Given the description of an element on the screen output the (x, y) to click on. 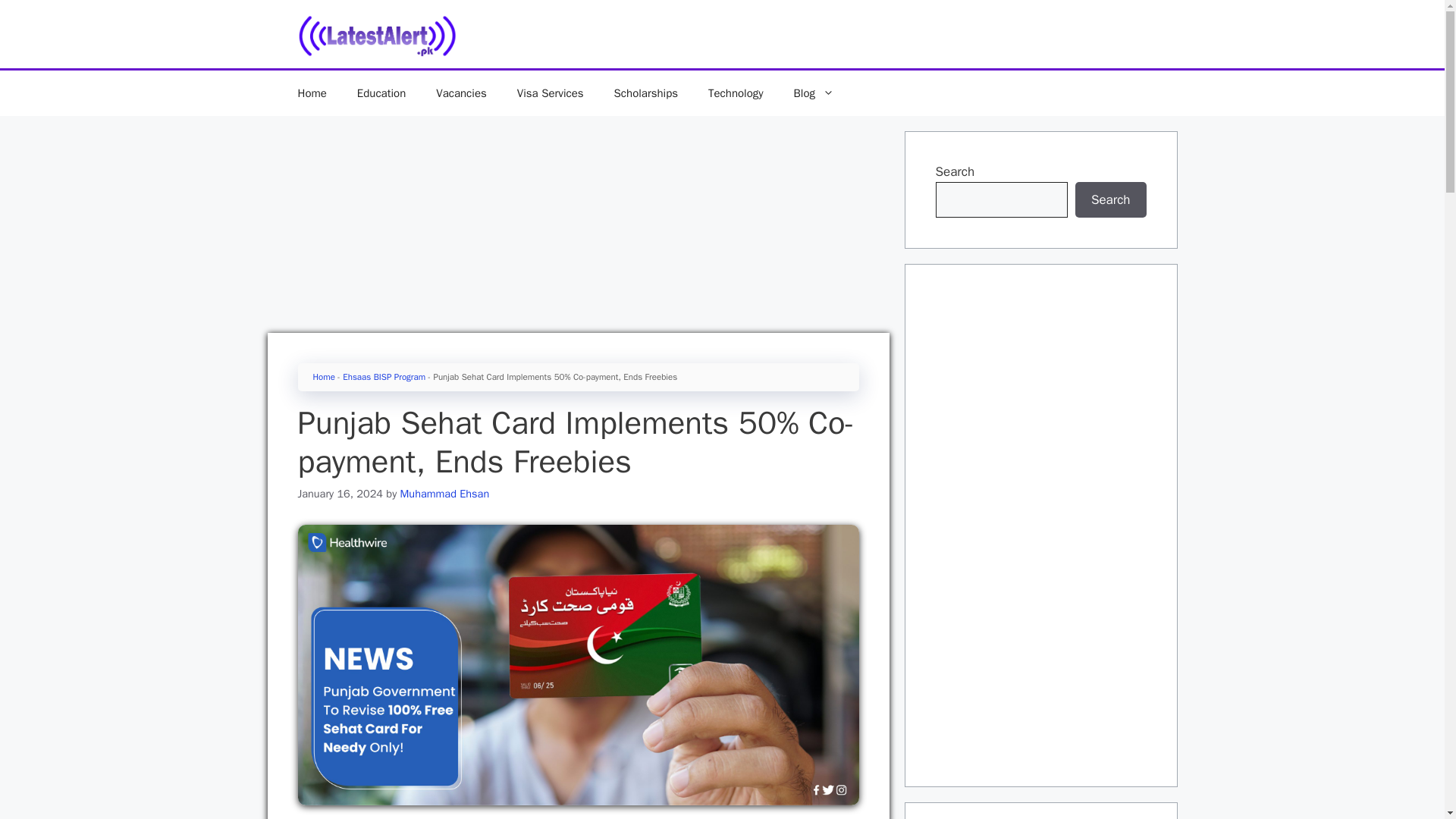
Education (381, 93)
Scholarships (645, 93)
Ehsaas BISP Program (383, 376)
Blog (813, 93)
Search (1111, 199)
Home (311, 93)
Technology (735, 93)
Muhammad Ehsan (444, 493)
Vacancies (461, 93)
View all posts by Muhammad Ehsan (444, 493)
